Given the description of an element on the screen output the (x, y) to click on. 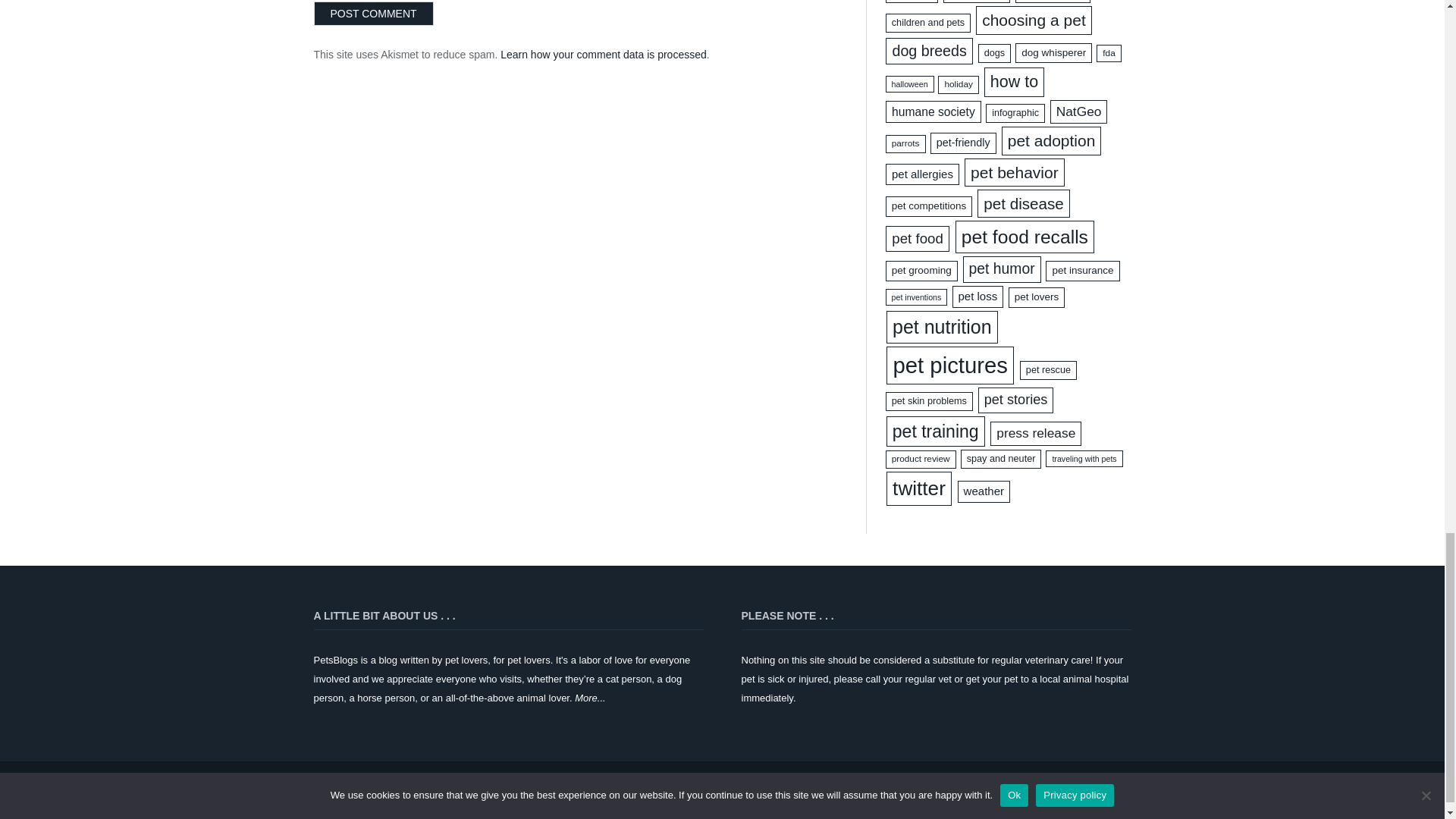
Post Comment (373, 13)
